Given the description of an element on the screen output the (x, y) to click on. 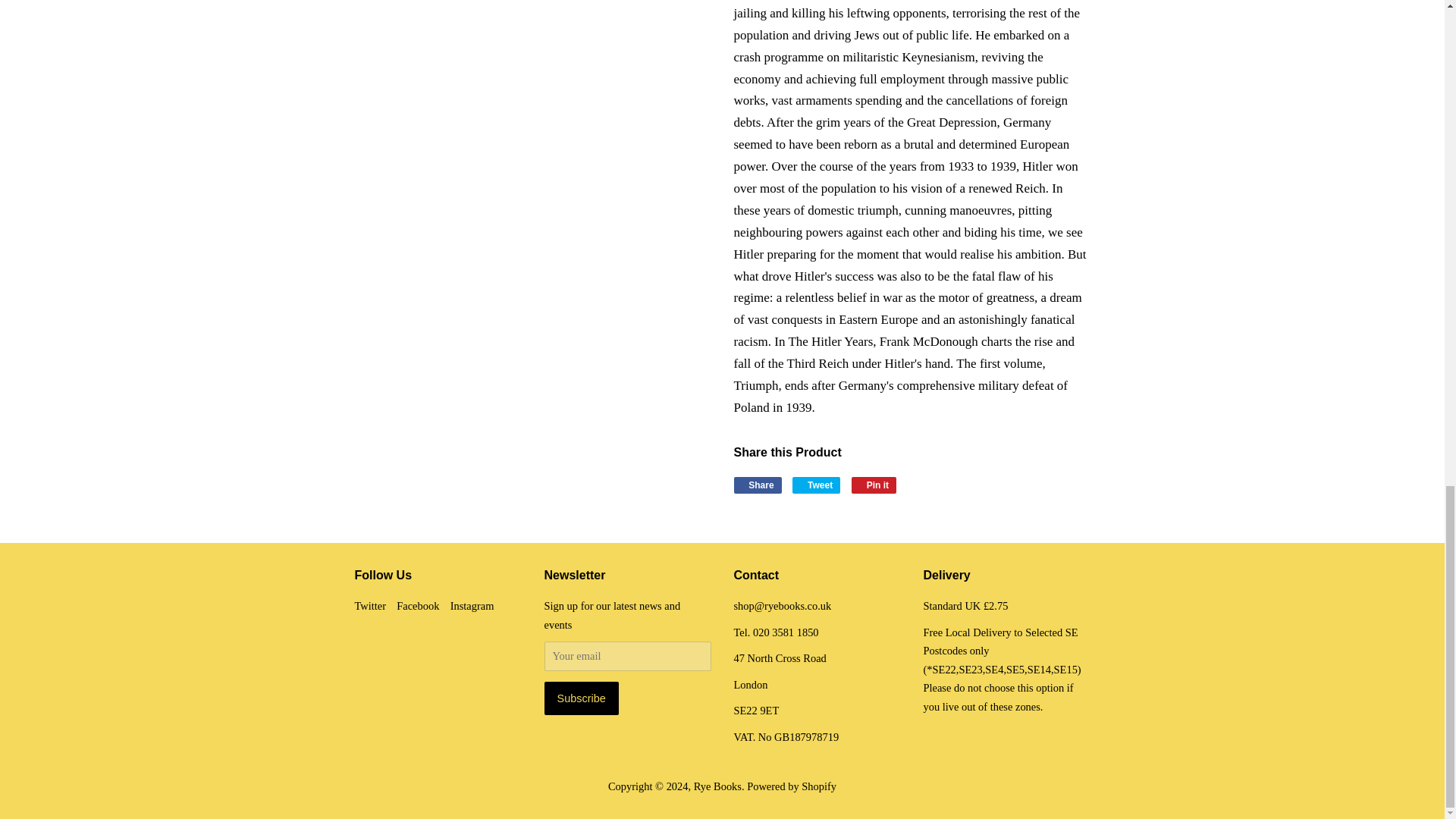
Rye Books on Twitter (371, 605)
Share on Facebook (757, 484)
Rye Books on Facebook (417, 605)
Pin on Pinterest (873, 484)
Tweet on Twitter (816, 484)
Subscribe (581, 697)
Rye Books on Instagram (472, 605)
